Given the description of an element on the screen output the (x, y) to click on. 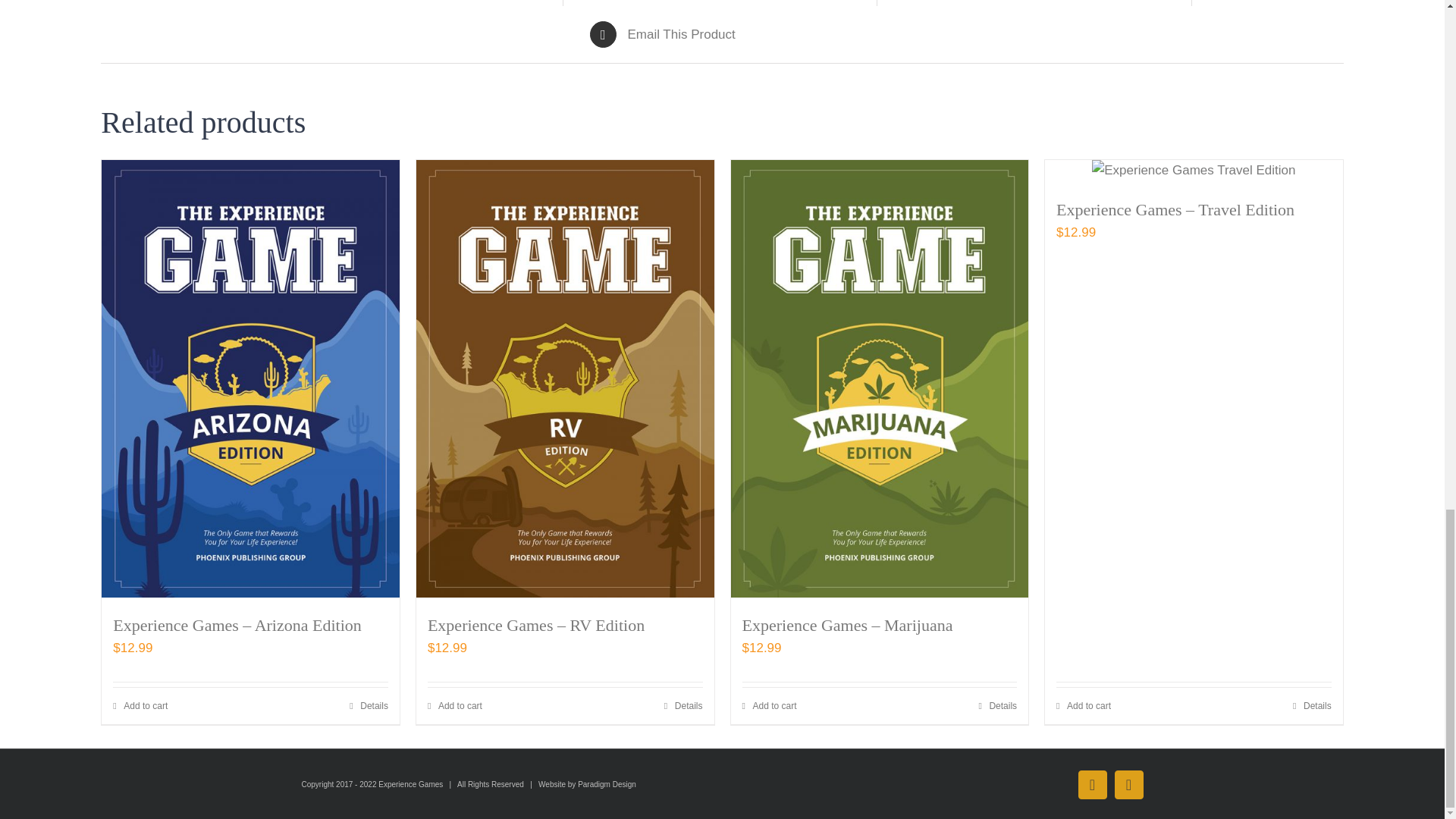
Facebook (1092, 784)
Instagram (1128, 784)
